Given the description of an element on the screen output the (x, y) to click on. 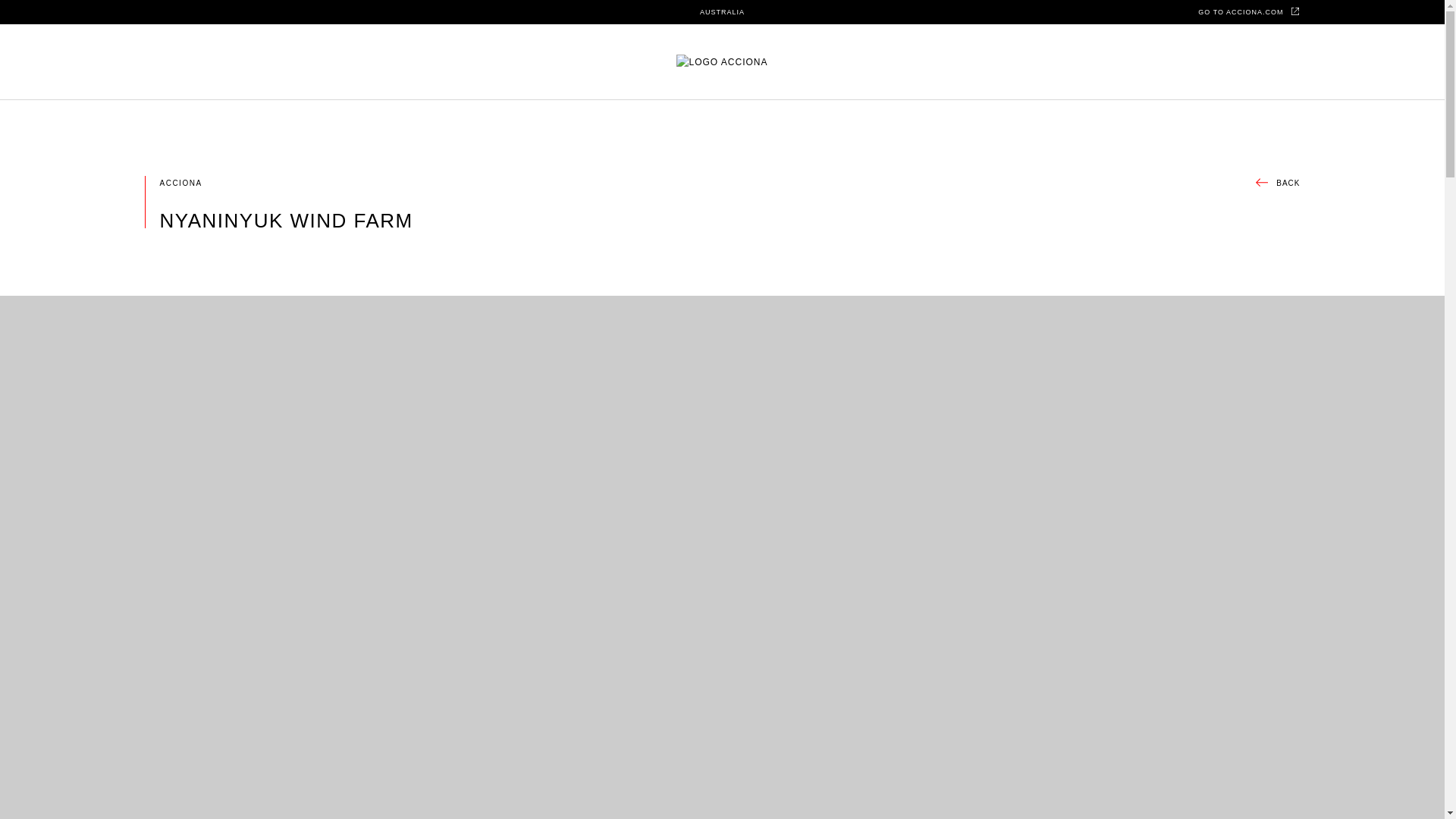
GO TO ACCIONA.COM (1249, 11)
BACK (1277, 183)
ACCIONA (180, 183)
Logo Acciona (722, 61)
